Given the description of an element on the screen output the (x, y) to click on. 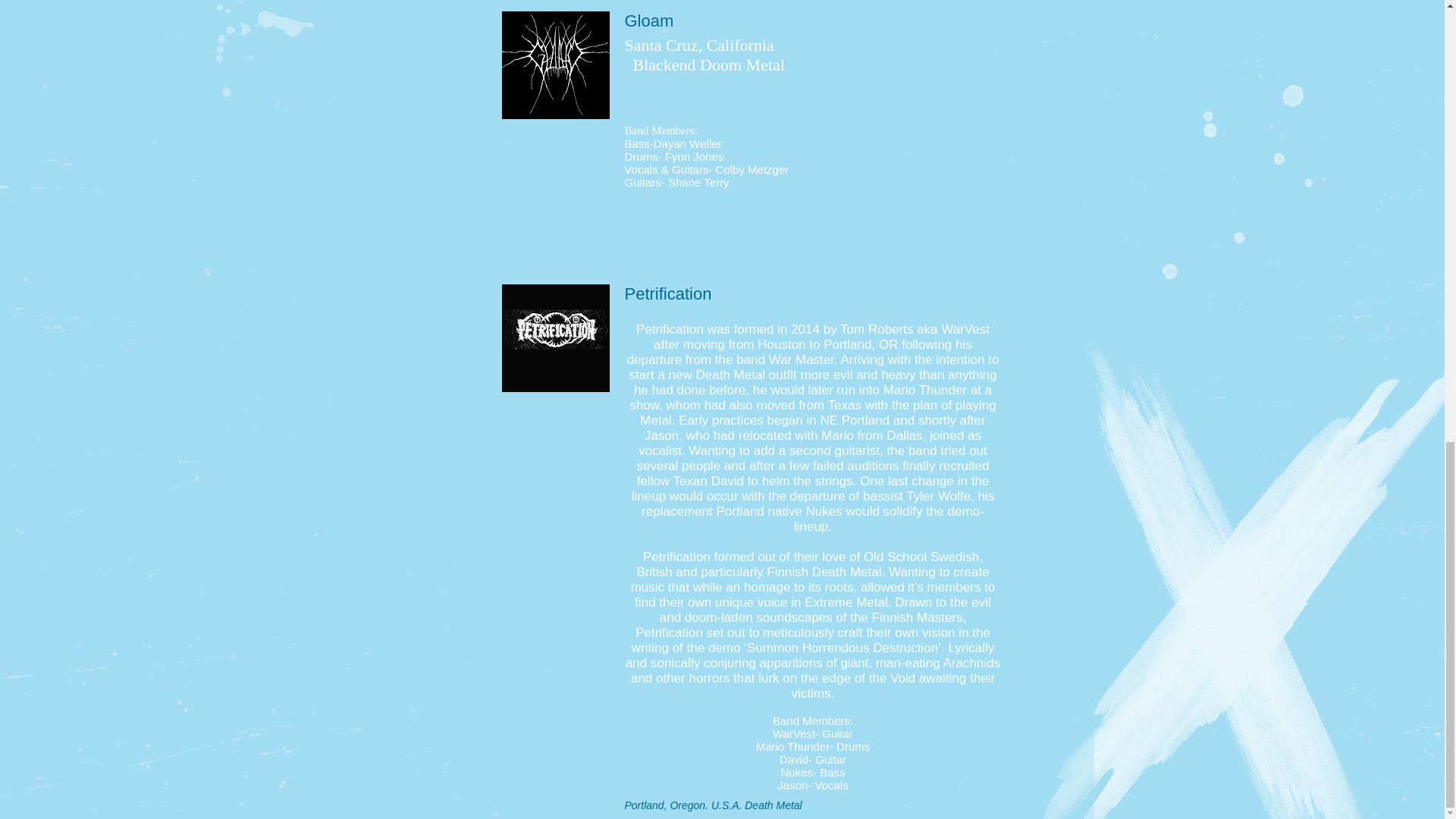
Gloam (556, 64)
Guitars- (646, 182)
Colby Metzger (752, 169)
Screen Shot 2018-01-08 at 7.11.37 PM.png (556, 338)
Bass-Dayan Weller (673, 143)
Guitars- (693, 169)
Drums- Fynn Jones (673, 155)
Shane Terry (698, 182)
